Given the description of an element on the screen output the (x, y) to click on. 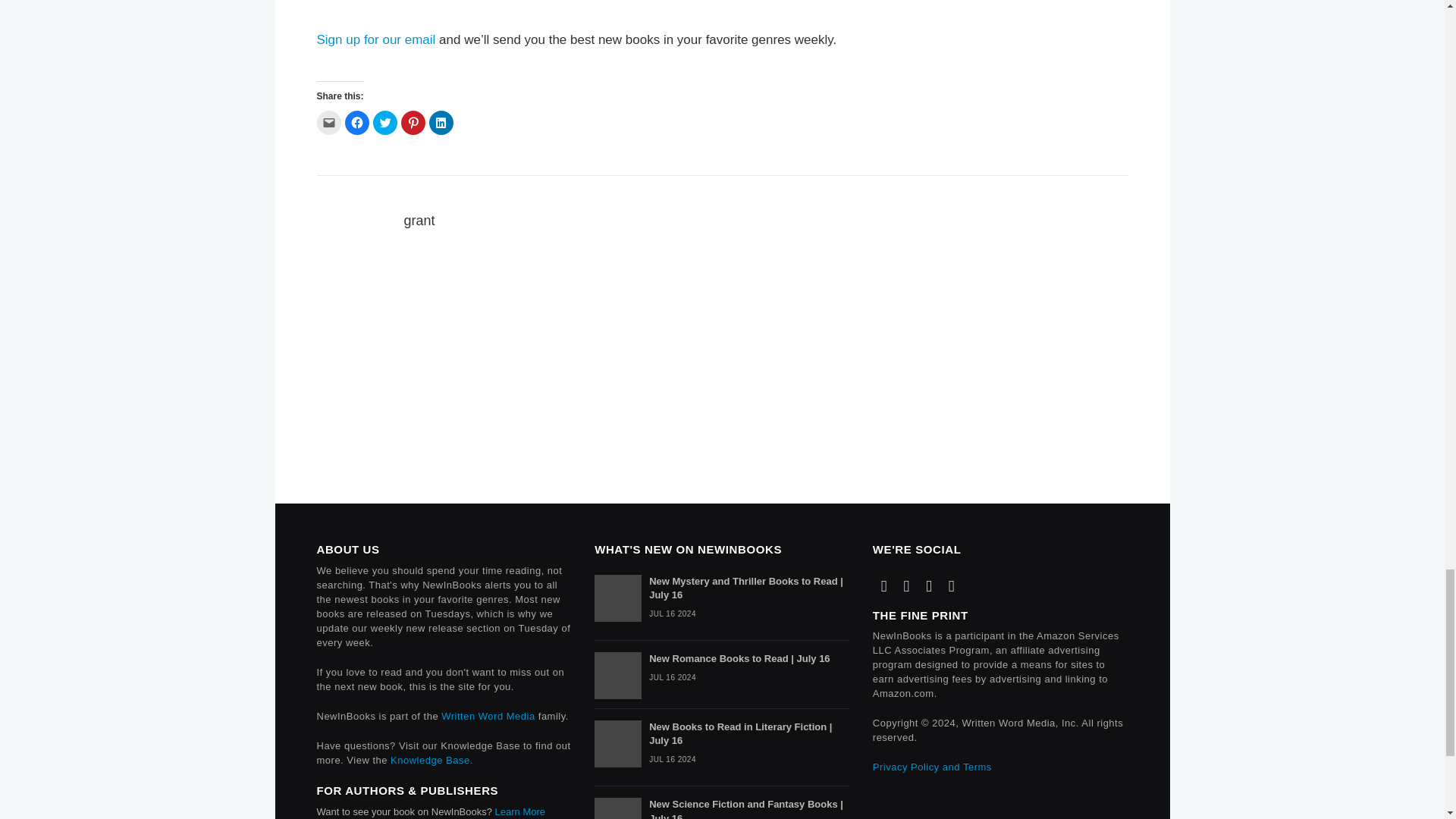
Click to share on LinkedIn (440, 122)
Click to share on Pinterest (412, 122)
Click to email this to a friend (328, 122)
Click to share on Twitter (384, 122)
Click to share on Facebook (355, 122)
